Given the description of an element on the screen output the (x, y) to click on. 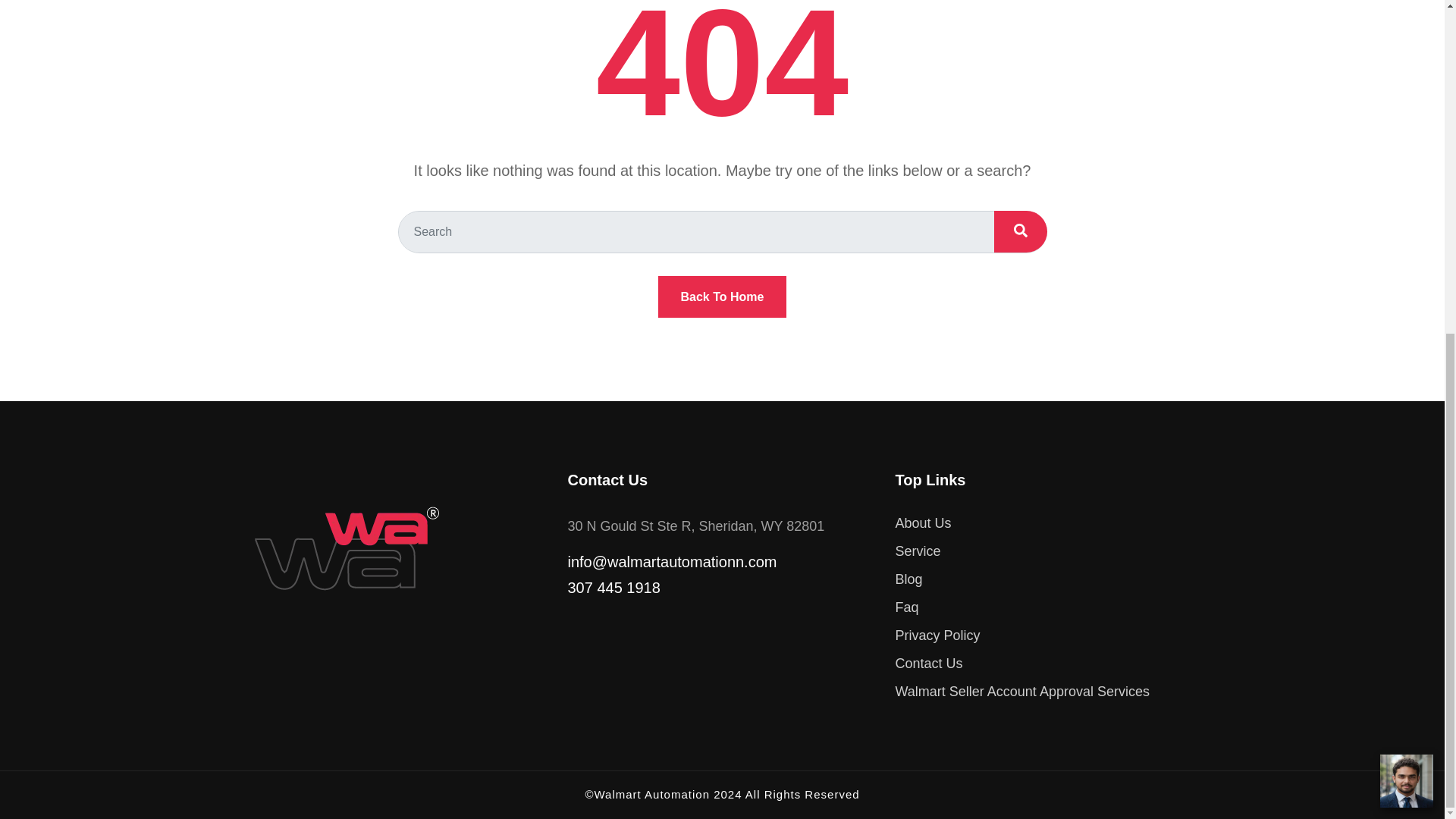
Privacy Policy (937, 635)
About Us (922, 522)
Walmart Seller Account Approval Services (1021, 691)
Service (917, 550)
Faq (906, 607)
Contact Us (928, 663)
Blog (908, 579)
Back To Home (722, 296)
307 445 1918 (721, 587)
